Given the description of an element on the screen output the (x, y) to click on. 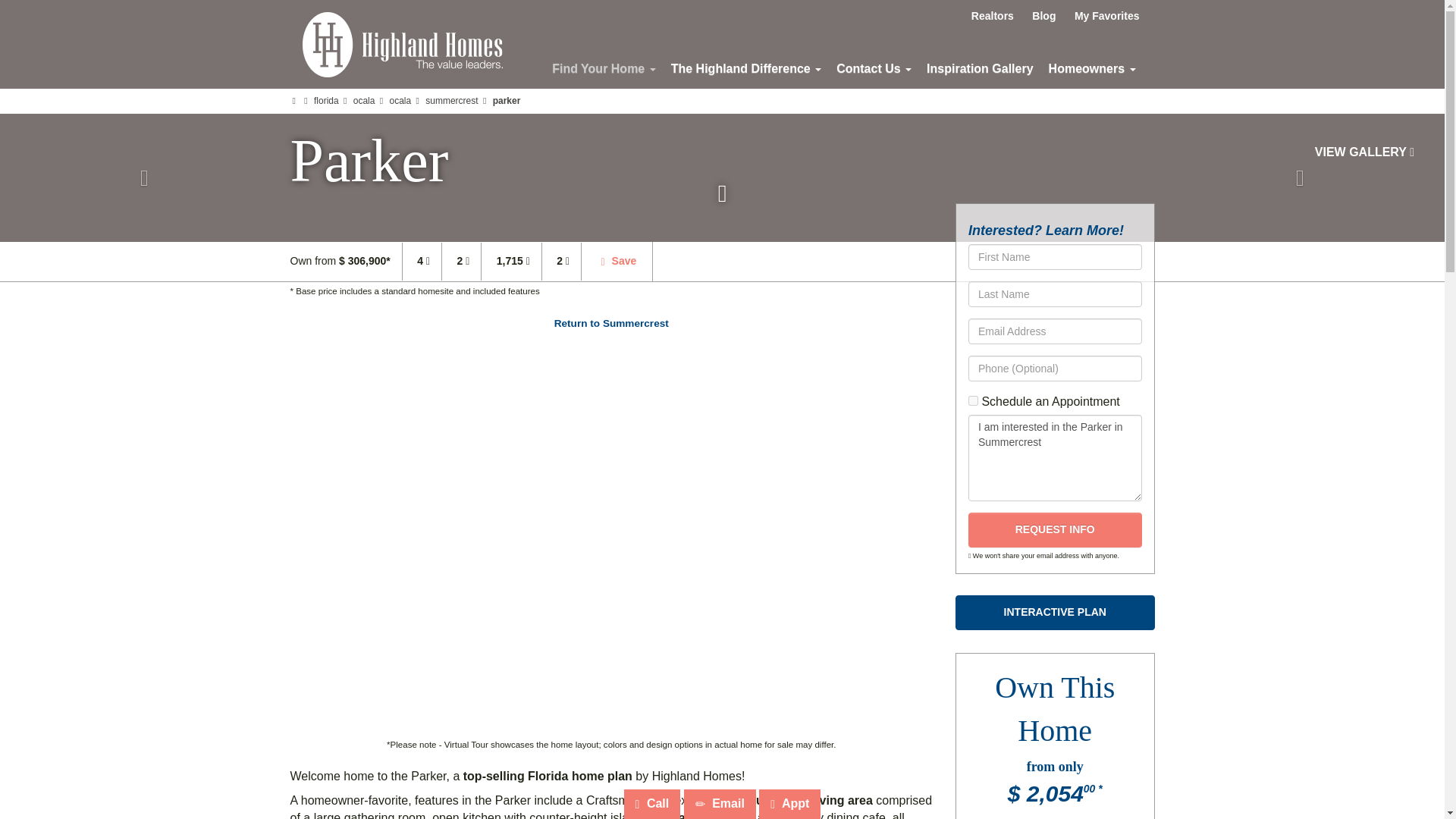
1 (973, 400)
Request Info (1054, 529)
Highland Homes (402, 44)
Blog (1043, 15)
My Favorites (1107, 15)
Find Your Home (603, 68)
Realtors (992, 15)
